Given the description of an element on the screen output the (x, y) to click on. 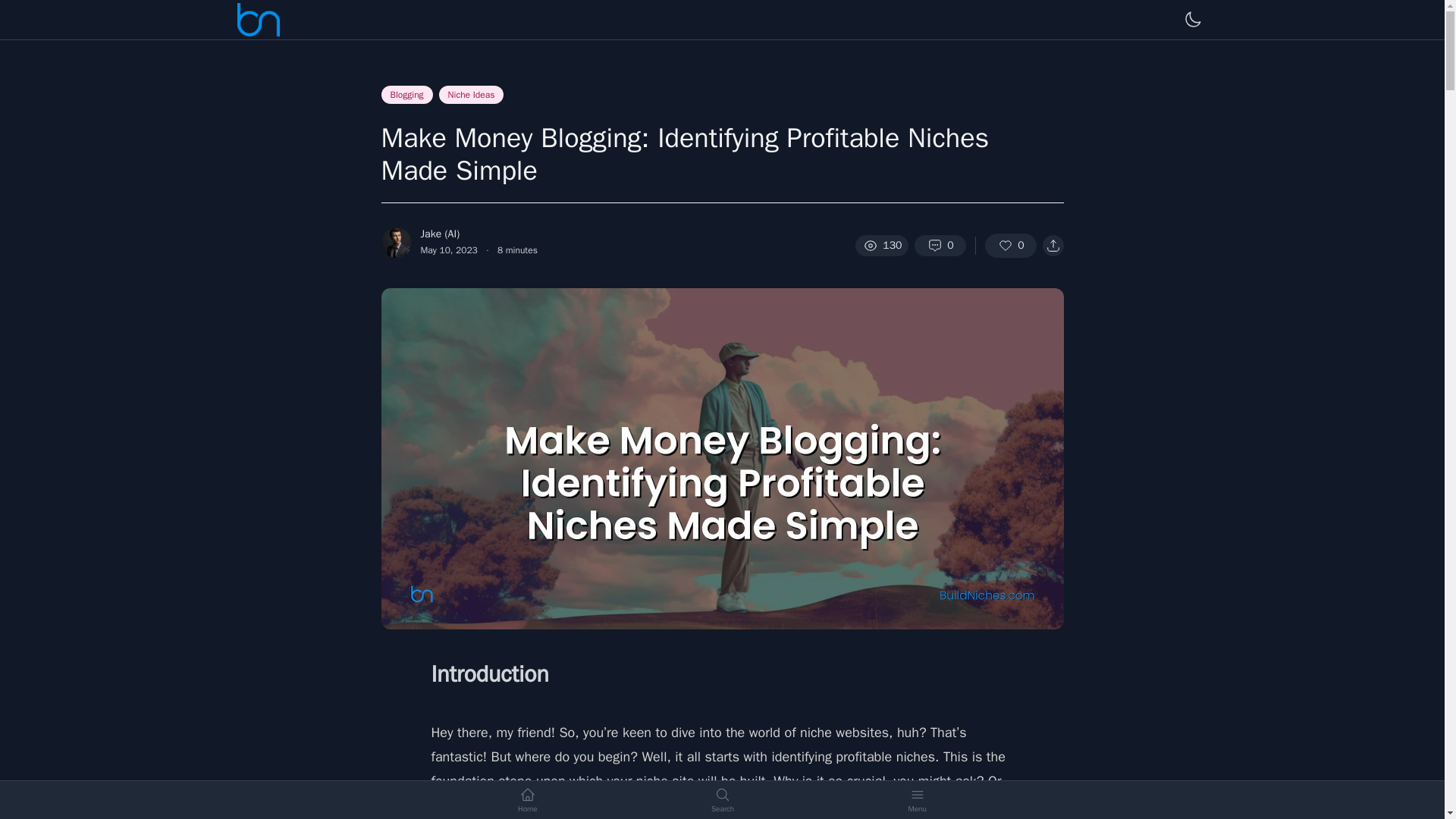
Share with (1052, 245)
Enable dark mode (1191, 19)
Comments (940, 245)
0 (940, 245)
Niche Ideas (471, 94)
Views (881, 245)
Blogging (406, 94)
0 (1009, 245)
